Given the description of an element on the screen output the (x, y) to click on. 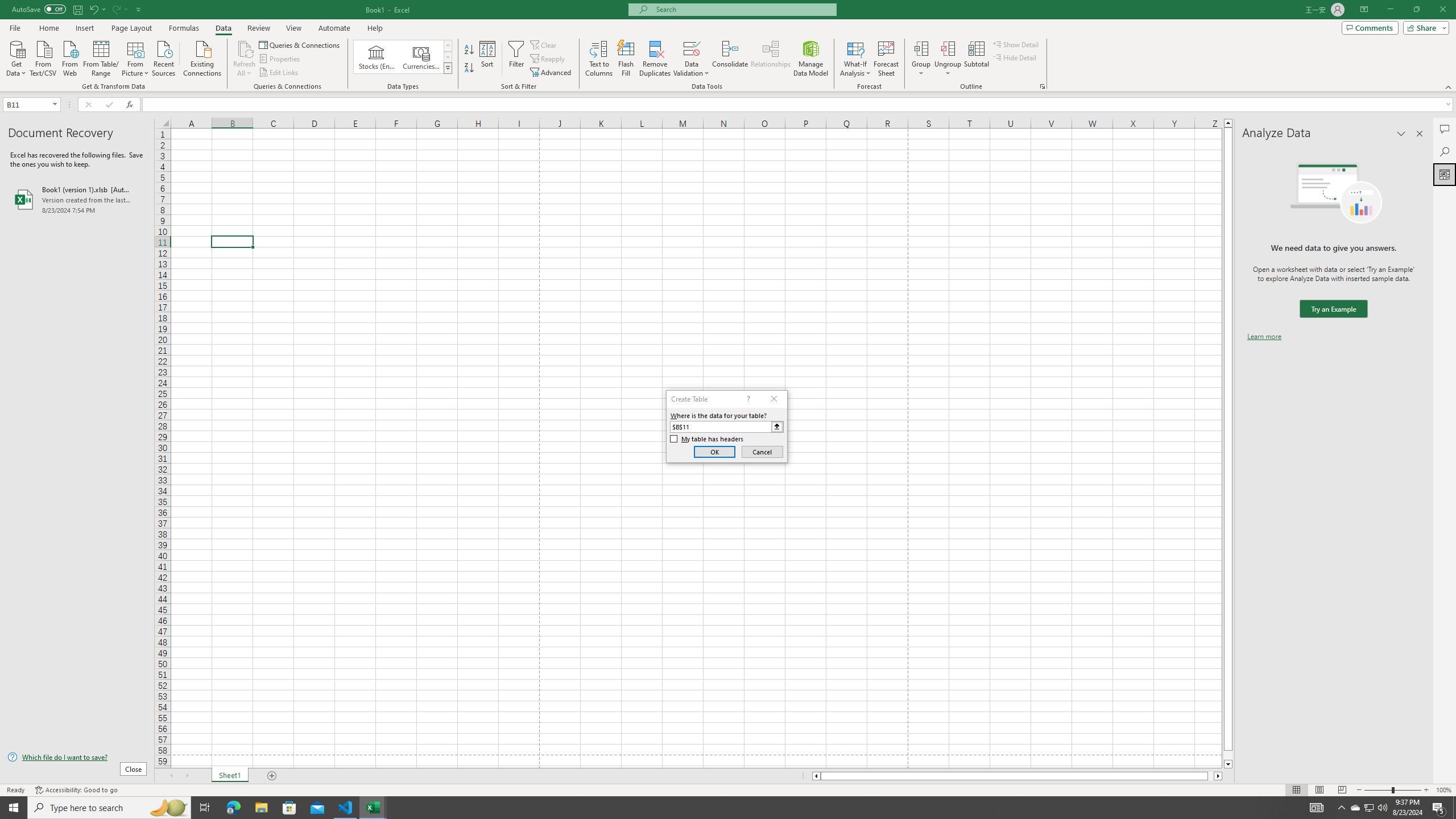
Advanced... (551, 72)
From Table/Range (100, 57)
From Text/CSV (43, 57)
From Picture (135, 57)
Consolidate... (729, 58)
We need data to give you answers. Try an Example (1333, 308)
